Given the description of an element on the screen output the (x, y) to click on. 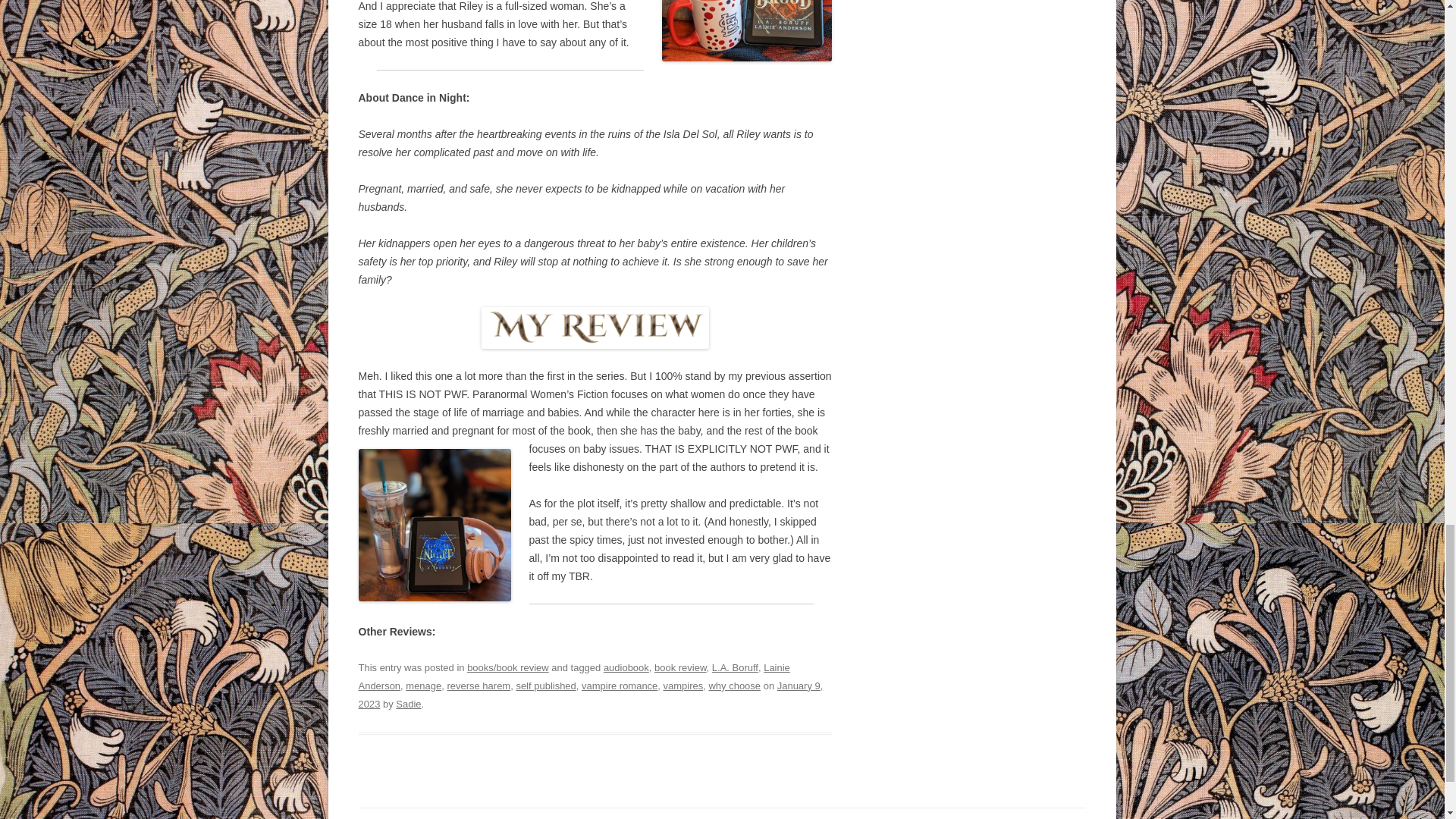
why choose (733, 685)
book review (679, 667)
Lainie Anderson (573, 676)
audiobook (626, 667)
vampire romance (619, 685)
8:51 am (590, 695)
L.A. Boruff (734, 667)
menage (423, 685)
Sadie (408, 704)
View all posts by Sadie (408, 704)
vampires (683, 685)
self published (545, 685)
January 9, 2023 (590, 695)
reverse harem (478, 685)
